Given the description of an element on the screen output the (x, y) to click on. 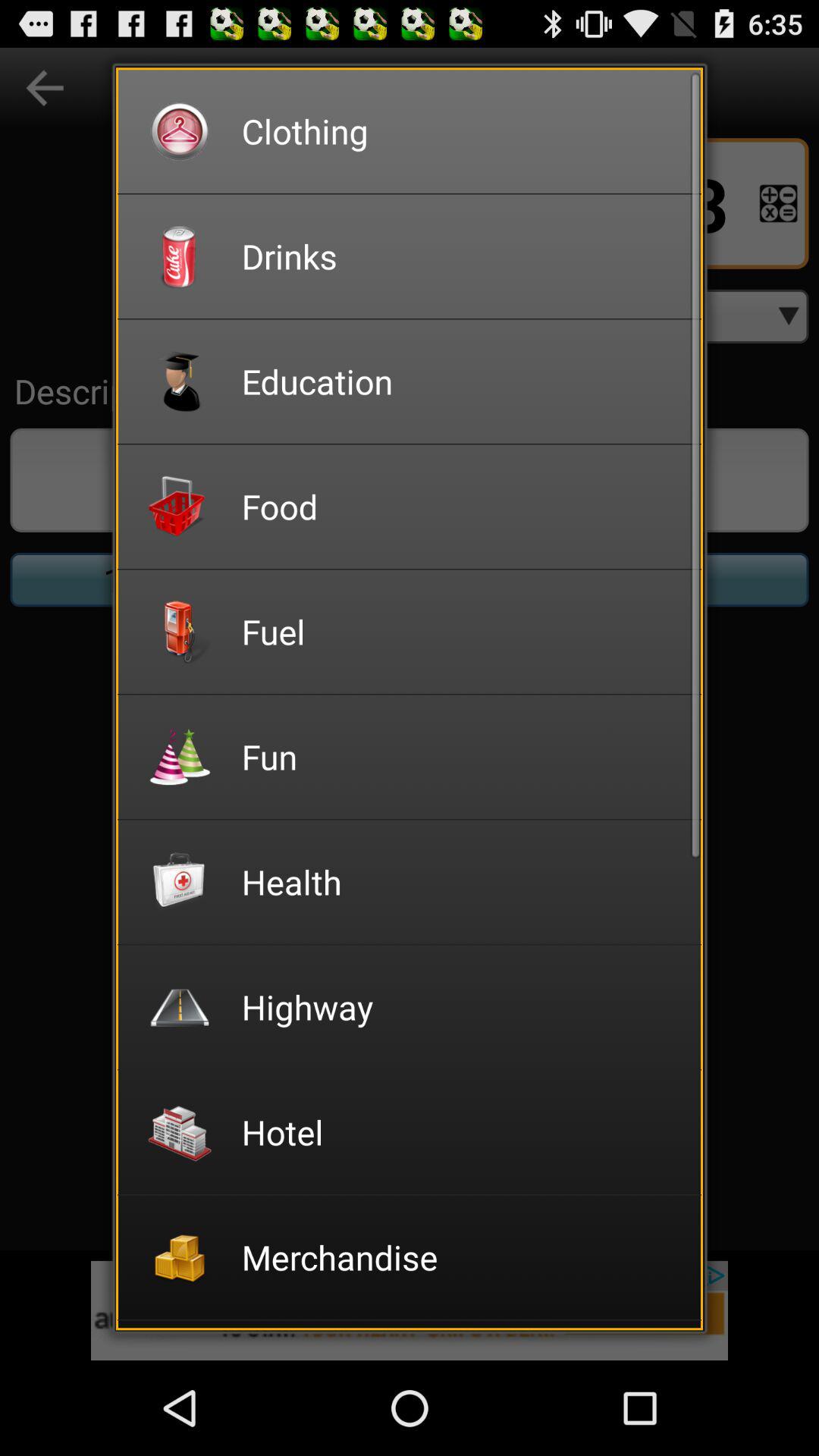
jump until the merchandise icon (461, 1257)
